Given the description of an element on the screen output the (x, y) to click on. 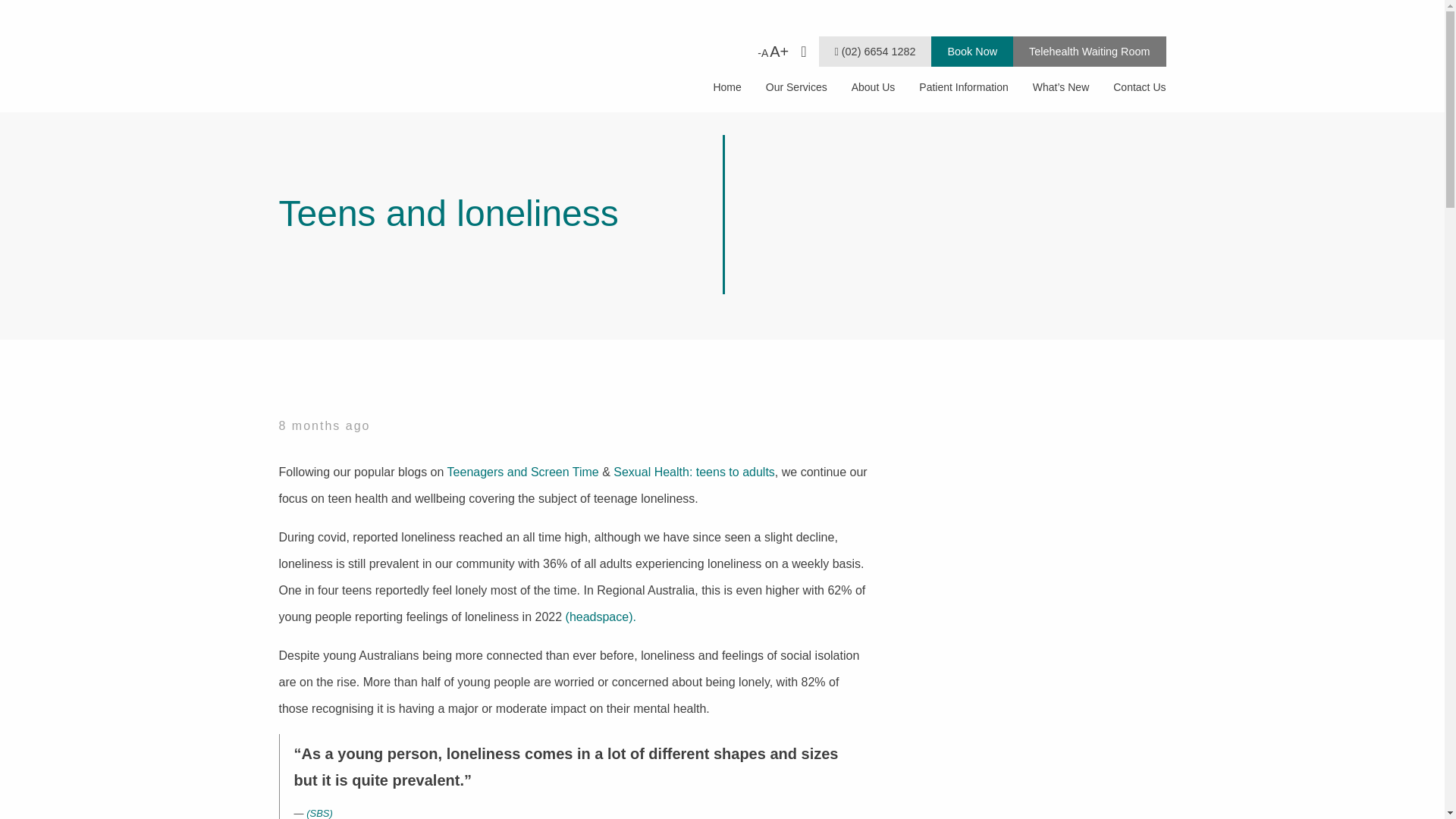
Sexual Health: teens to adults (693, 472)
Telehealth Waiting Room (1089, 51)
Home (726, 85)
Beach Street Family Practice (381, 68)
Book Now (972, 51)
Contact Us (1133, 85)
Our Services (797, 85)
Patient Information (963, 85)
About Us (873, 85)
Teenagers and Screen Time (522, 472)
